Given the description of an element on the screen output the (x, y) to click on. 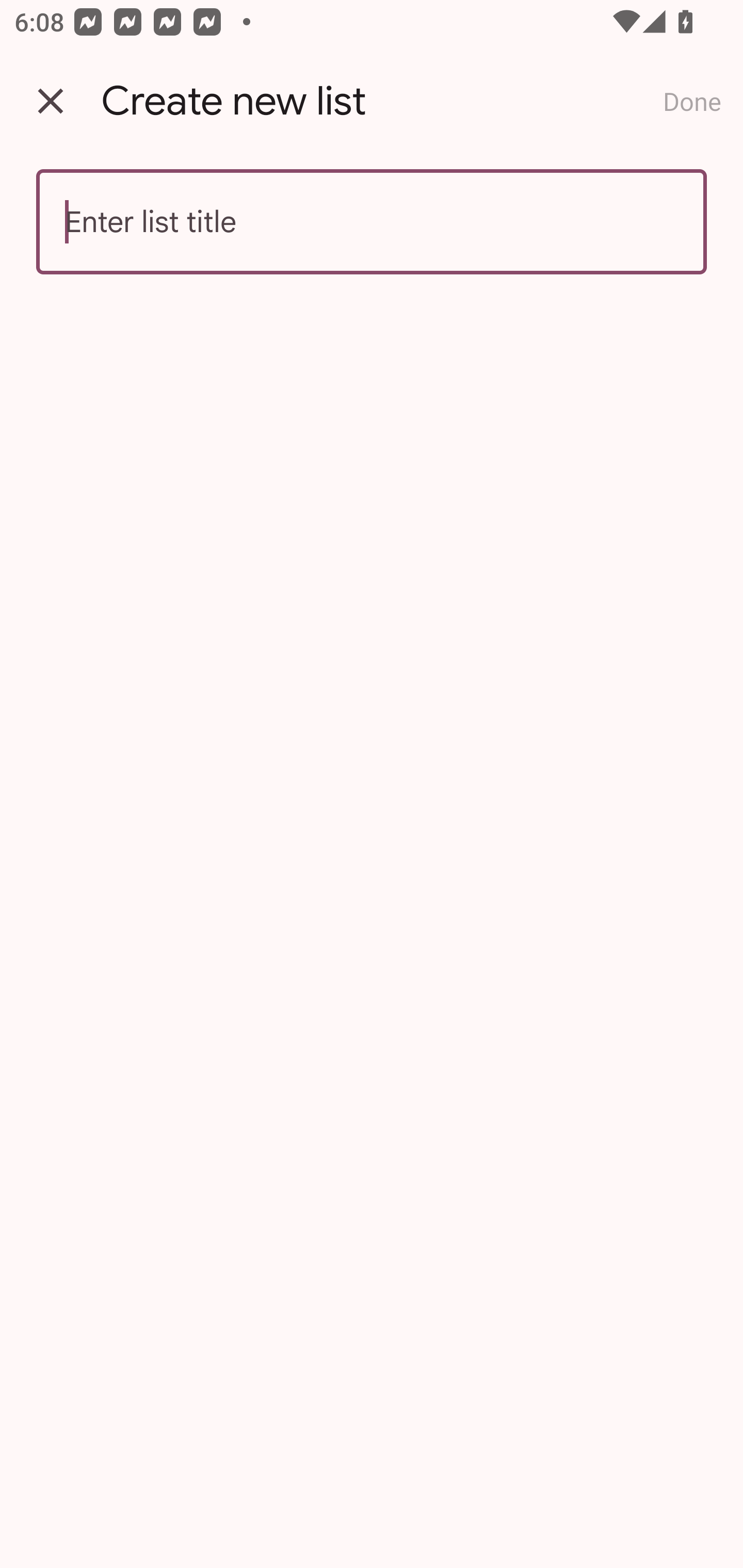
Back (50, 101)
Done (692, 101)
Enter list title (371, 221)
